Given the description of an element on the screen output the (x, y) to click on. 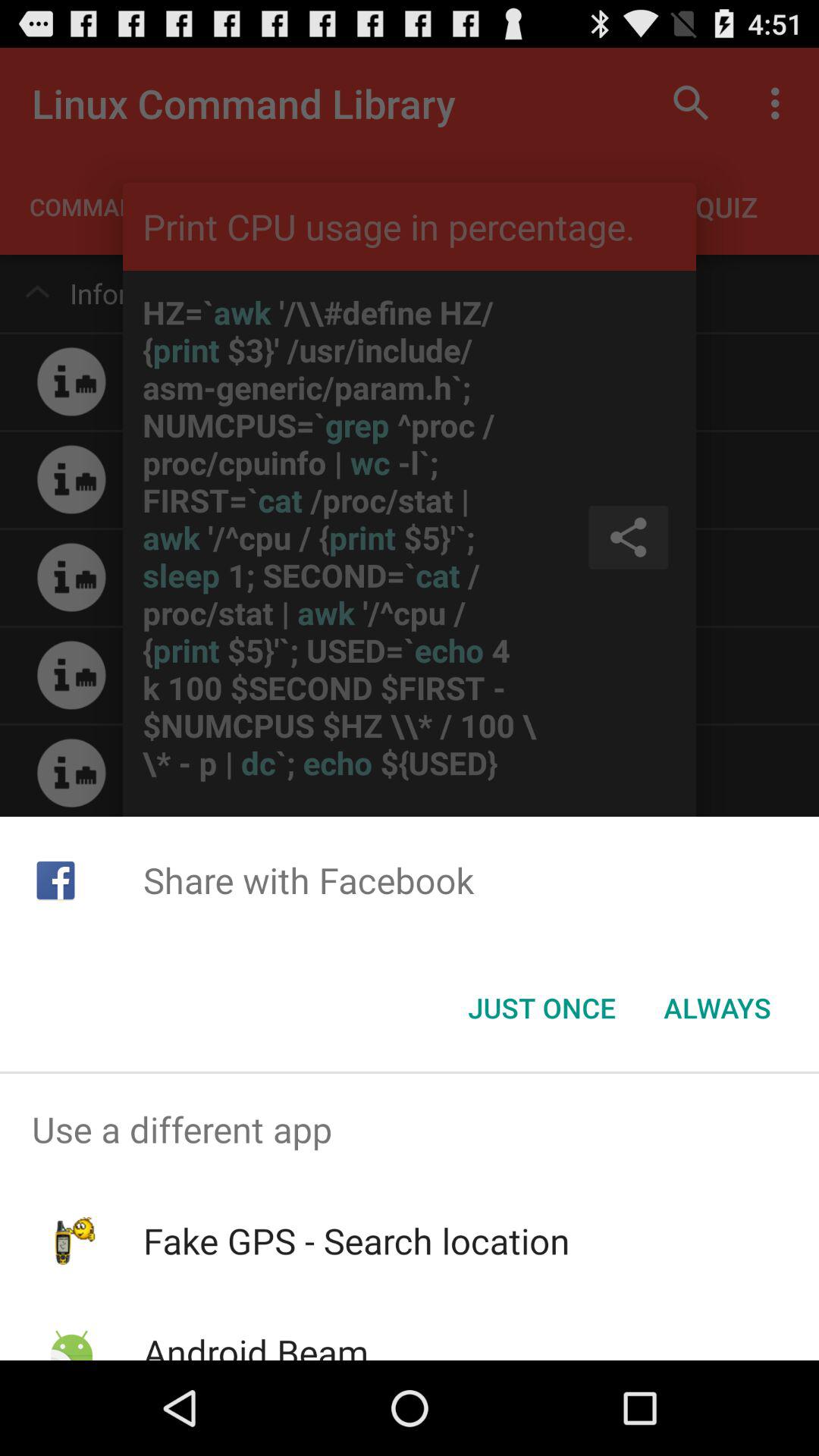
press the item below the share with facebook icon (717, 1007)
